Given the description of an element on the screen output the (x, y) to click on. 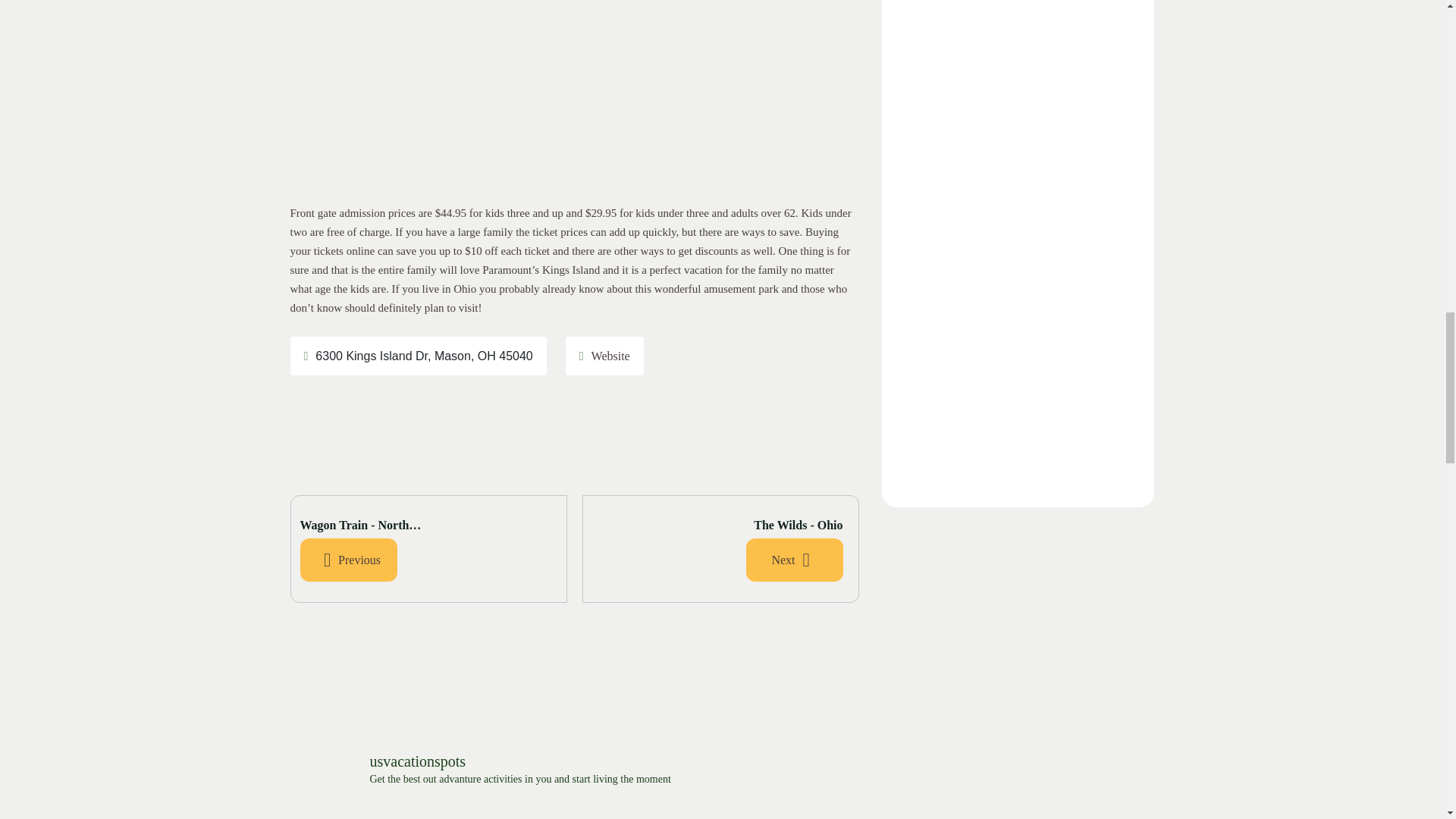
Website (604, 355)
Previous (348, 559)
YouTube video player (1018, 211)
YouTube video player (1018, 62)
Next (794, 559)
YouTube video player (1018, 383)
